Given the description of an element on the screen output the (x, y) to click on. 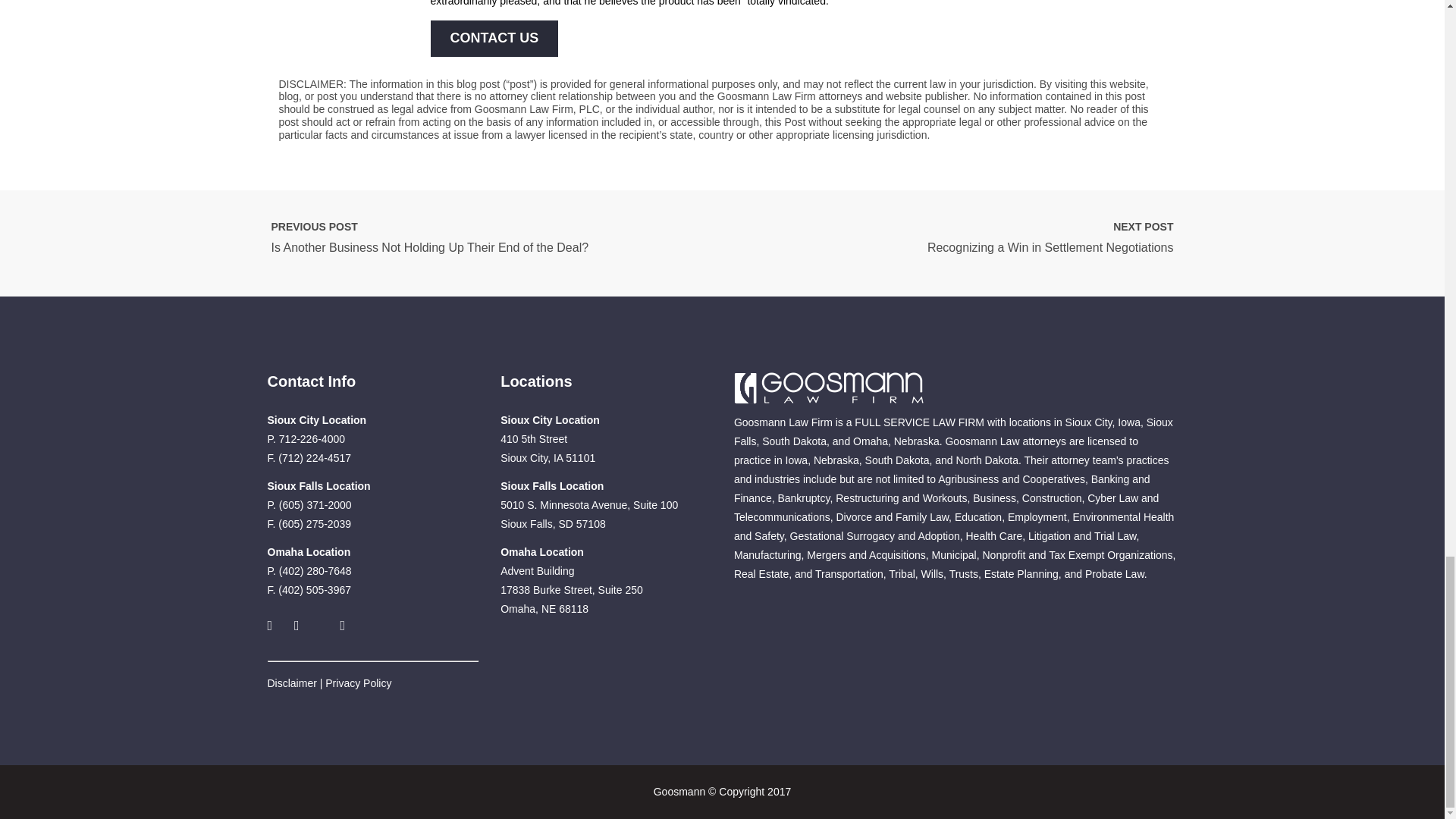
Goosmann (828, 388)
CONTACT US (494, 38)
